Given the description of an element on the screen output the (x, y) to click on. 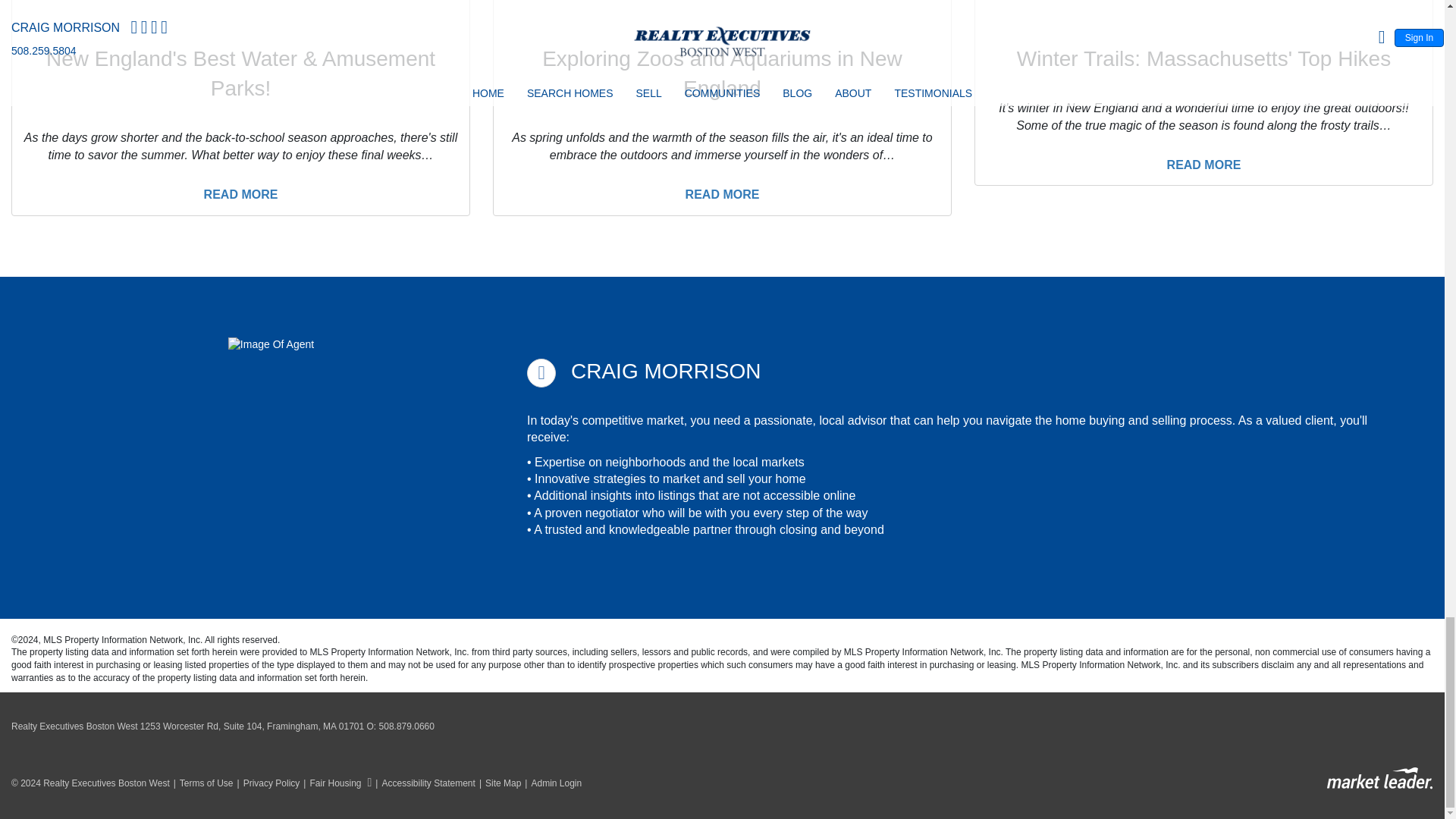
Terms of Use (201, 783)
508.879.0660 (405, 726)
Powered By Market Leader (1379, 778)
Privacy Policy (265, 783)
